Given the description of an element on the screen output the (x, y) to click on. 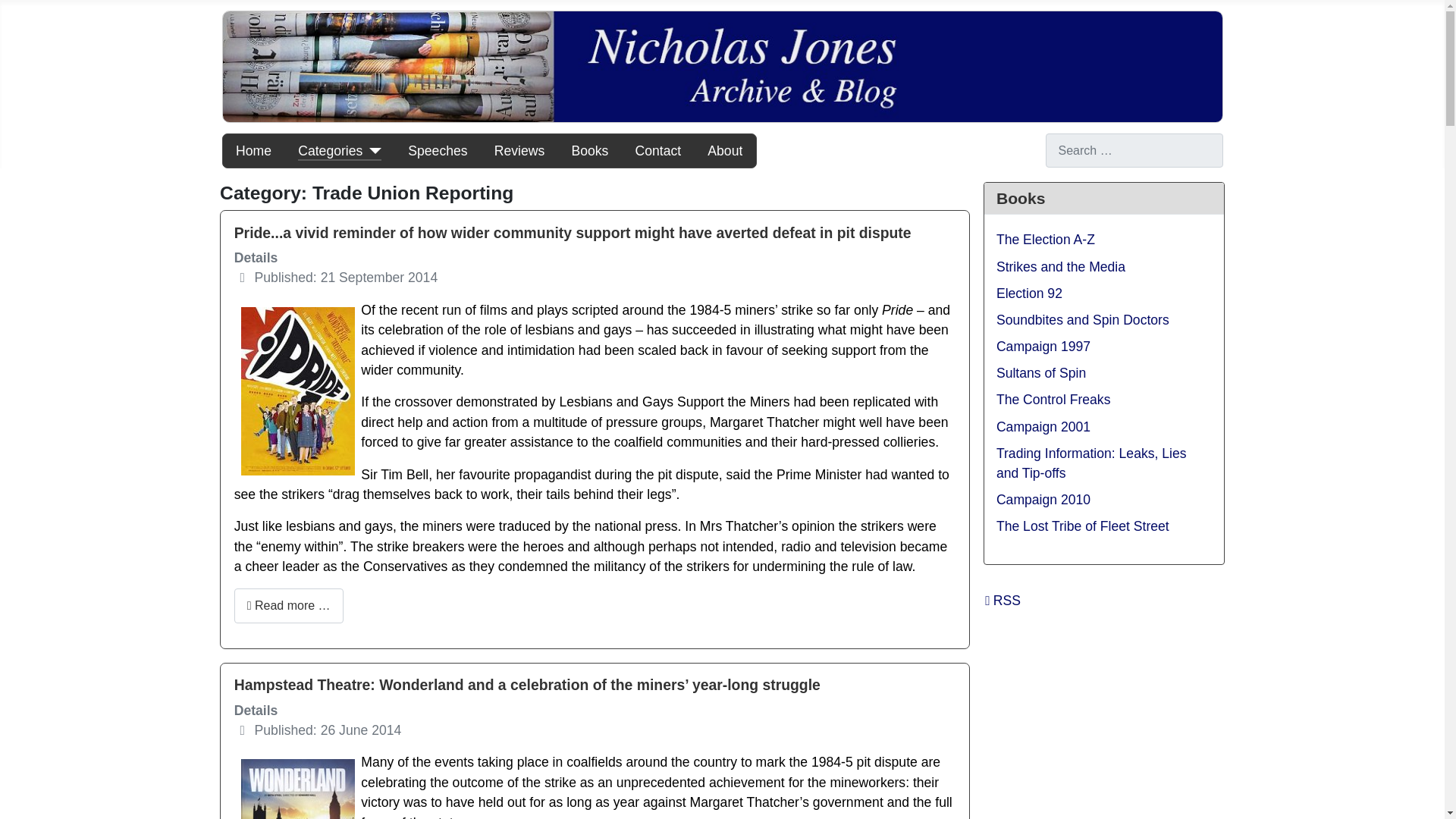
Contact (657, 150)
Categories (339, 150)
Books (589, 150)
About (724, 150)
Home (252, 150)
Speeches (437, 150)
Reviews (519, 150)
